Given the description of an element on the screen output the (x, y) to click on. 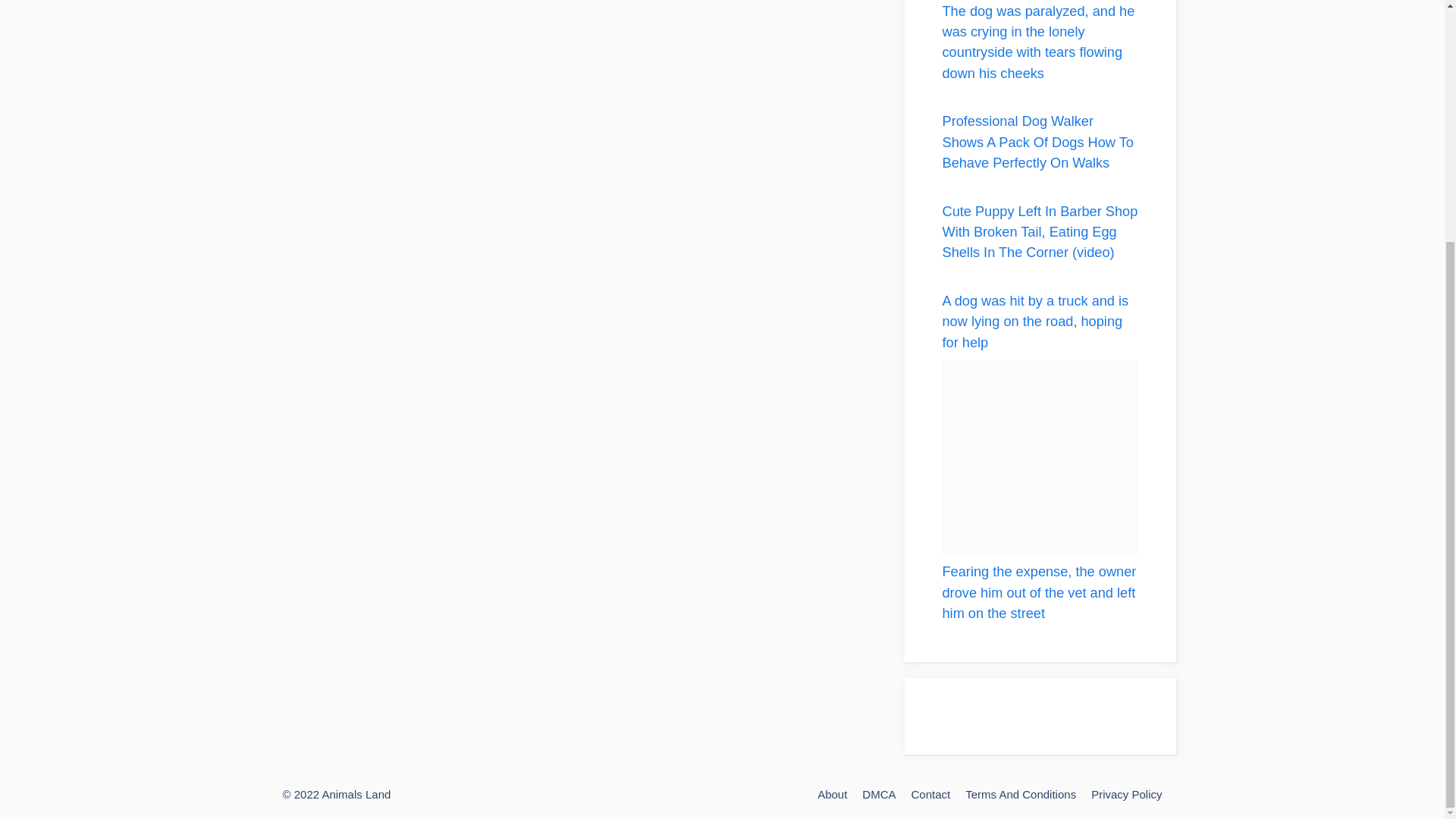
DMCA (878, 793)
About (831, 793)
Privacy Policy (1125, 793)
Contact (930, 793)
Terms And Conditions (1020, 793)
